Given the description of an element on the screen output the (x, y) to click on. 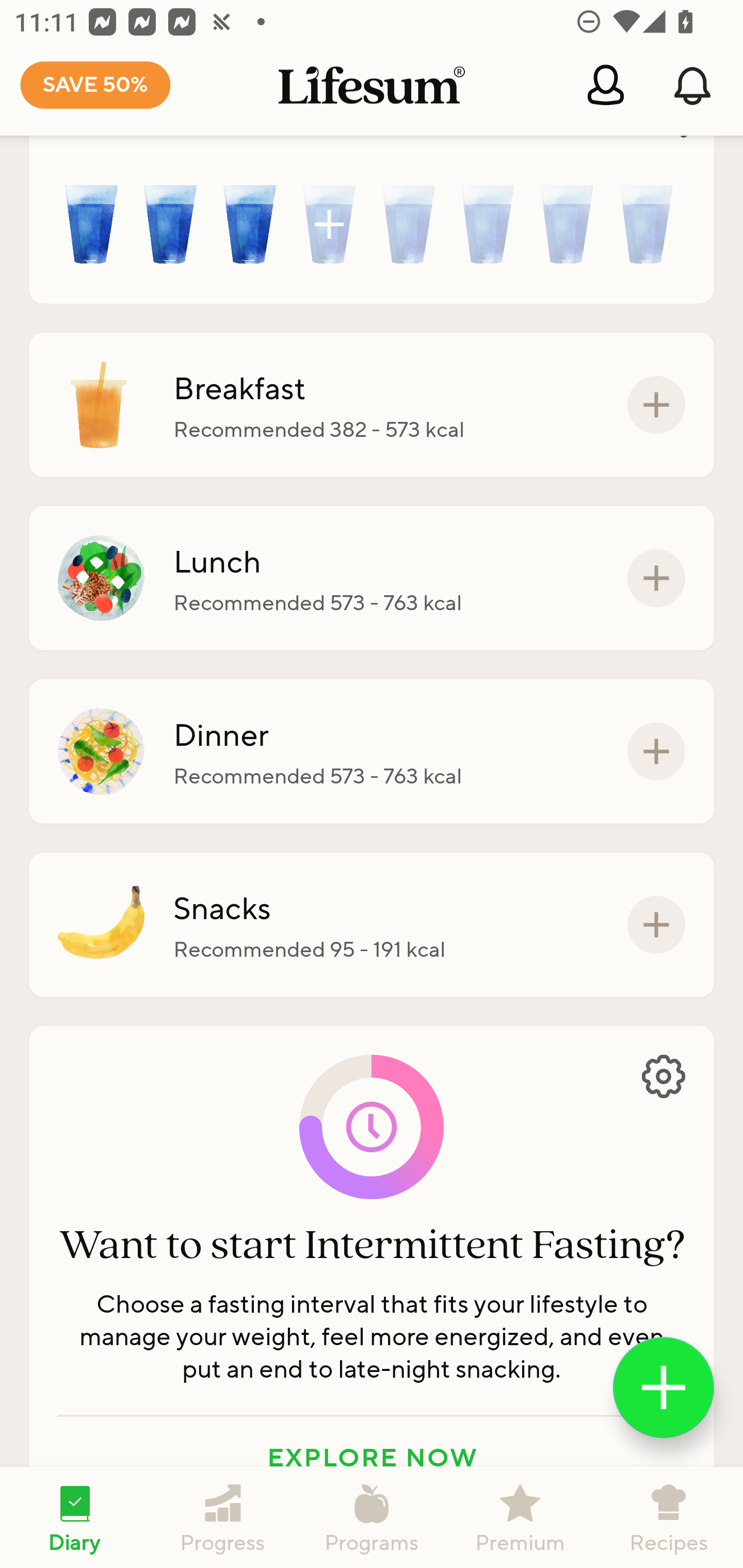
Breakfast Recommended 382 - 573 kcal (371, 404)
Lunch Recommended 573 - 763 kcal (371, 578)
Dinner Recommended 573 - 763 kcal (371, 750)
Snacks Recommended 95 - 191 kcal (371, 924)
Progress (222, 1517)
Programs (371, 1517)
Premium (519, 1517)
Recipes (668, 1517)
